Given the description of an element on the screen output the (x, y) to click on. 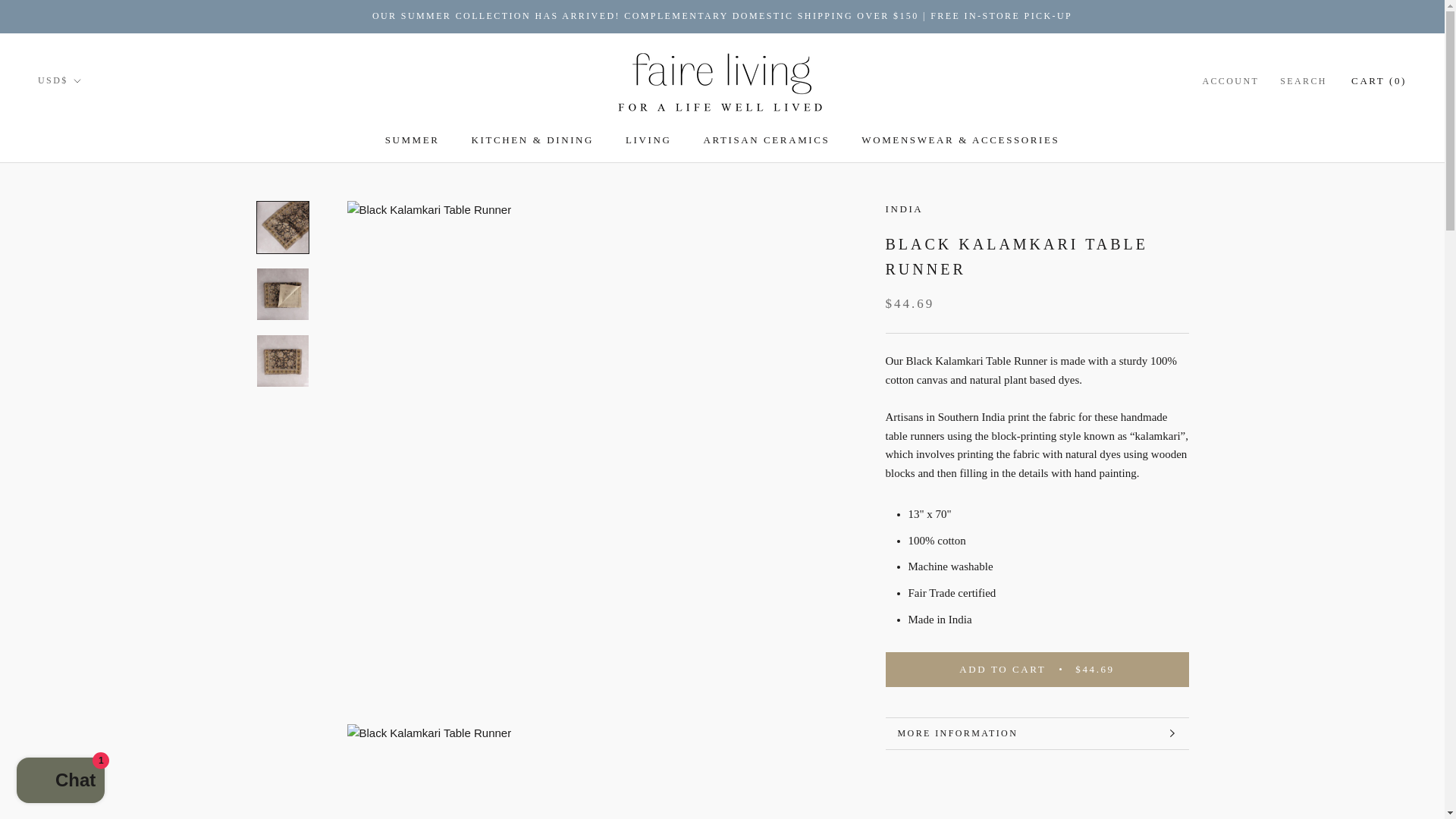
Shopify online store chat (60, 781)
